Given the description of an element on the screen output the (x, y) to click on. 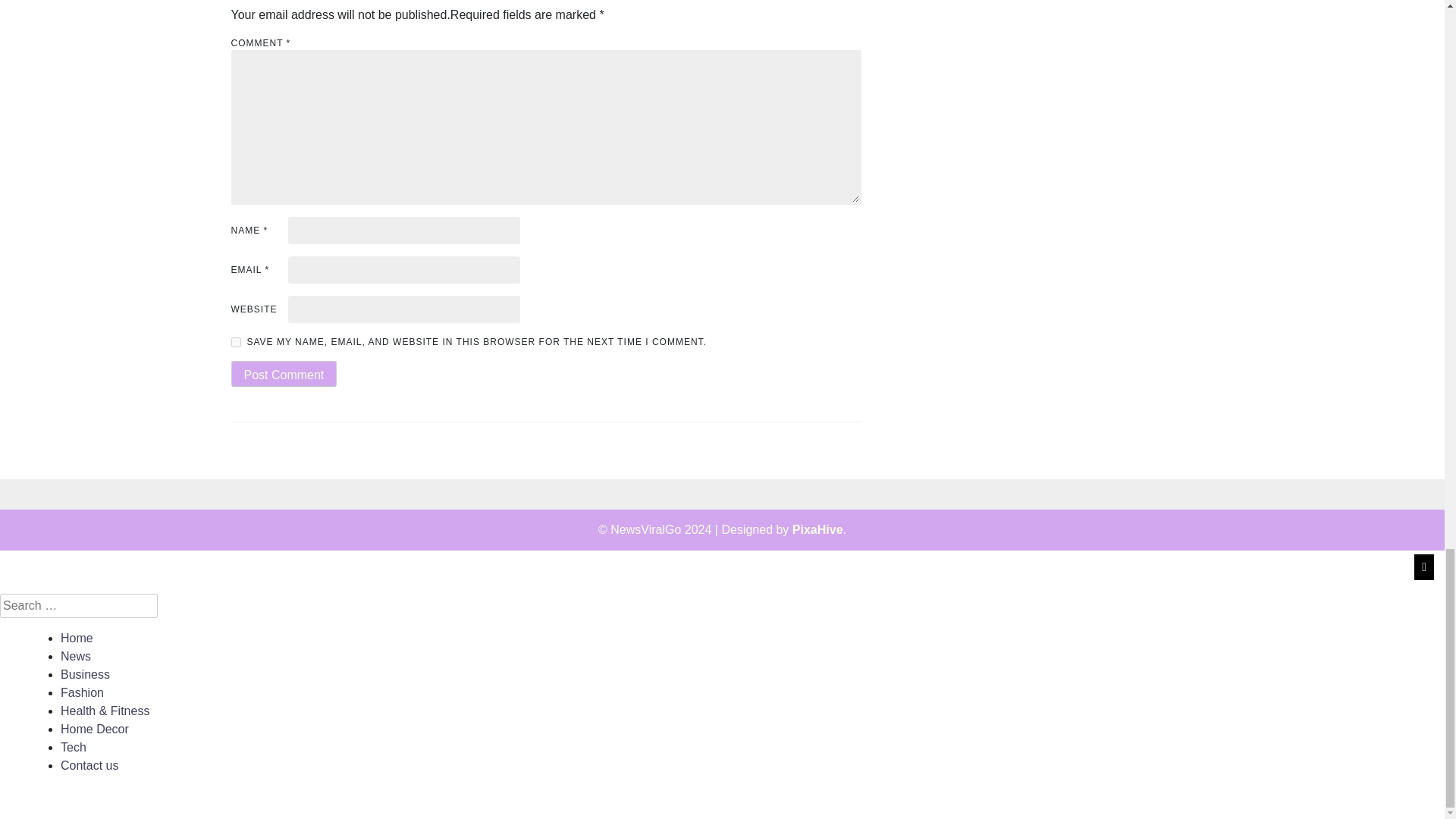
PixaHive (817, 529)
Post Comment (283, 373)
News (75, 656)
Home Decor (95, 728)
Tech (73, 747)
yes (235, 342)
Post Comment (283, 373)
Business (85, 674)
Home (77, 637)
Fashion (82, 692)
Contact us (89, 765)
